Given the description of an element on the screen output the (x, y) to click on. 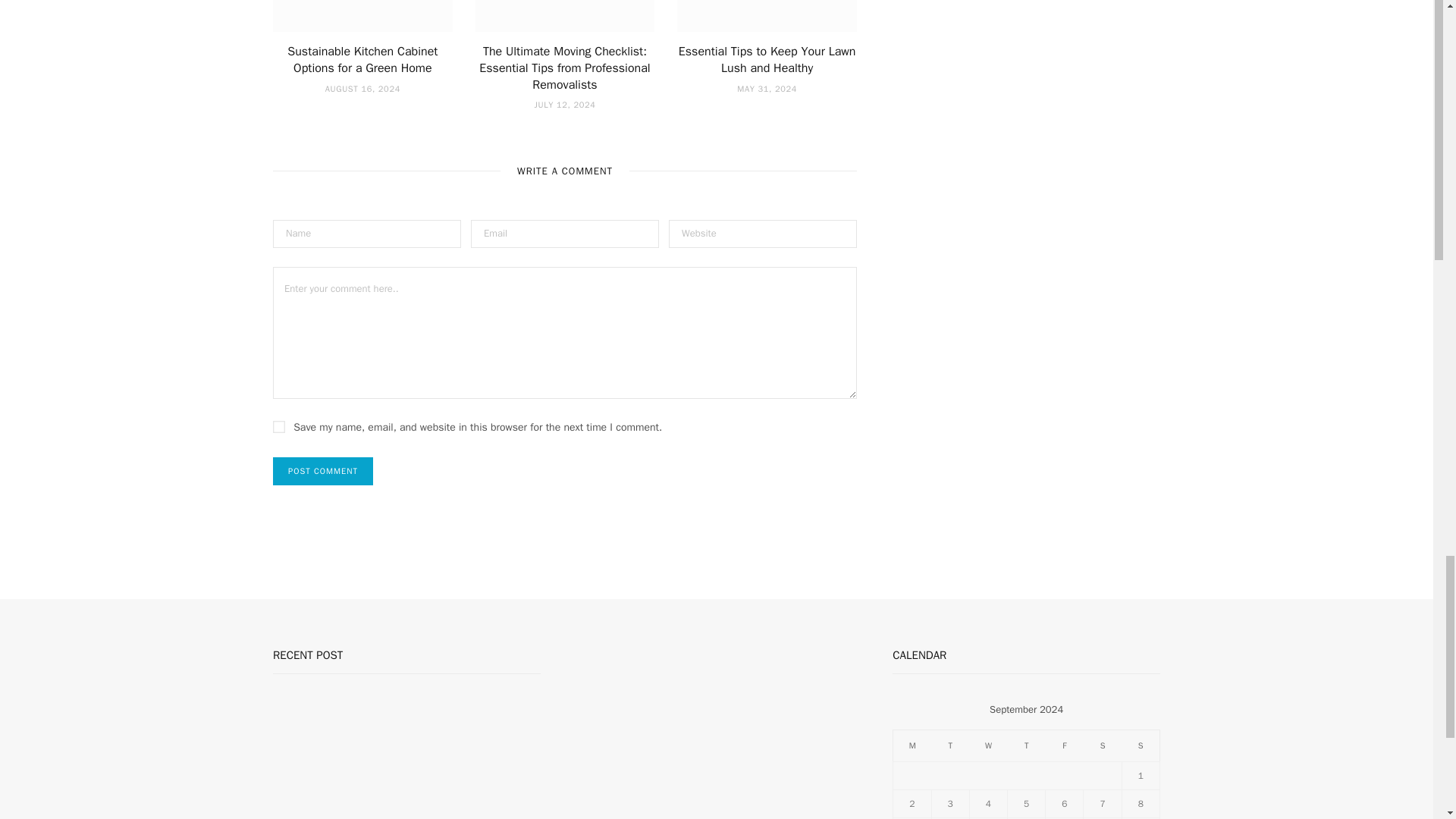
Post Comment (322, 471)
Post Comment (322, 471)
Essential Tips to Keep Your Lawn Lush and Healthy (767, 60)
Tuesday (950, 745)
AUGUST 16, 2024 (362, 88)
Sustainable Kitchen Cabinet Options for a Green Home (362, 60)
Monday (912, 745)
MAY 31, 2024 (766, 88)
yes (279, 426)
